Given the description of an element on the screen output the (x, y) to click on. 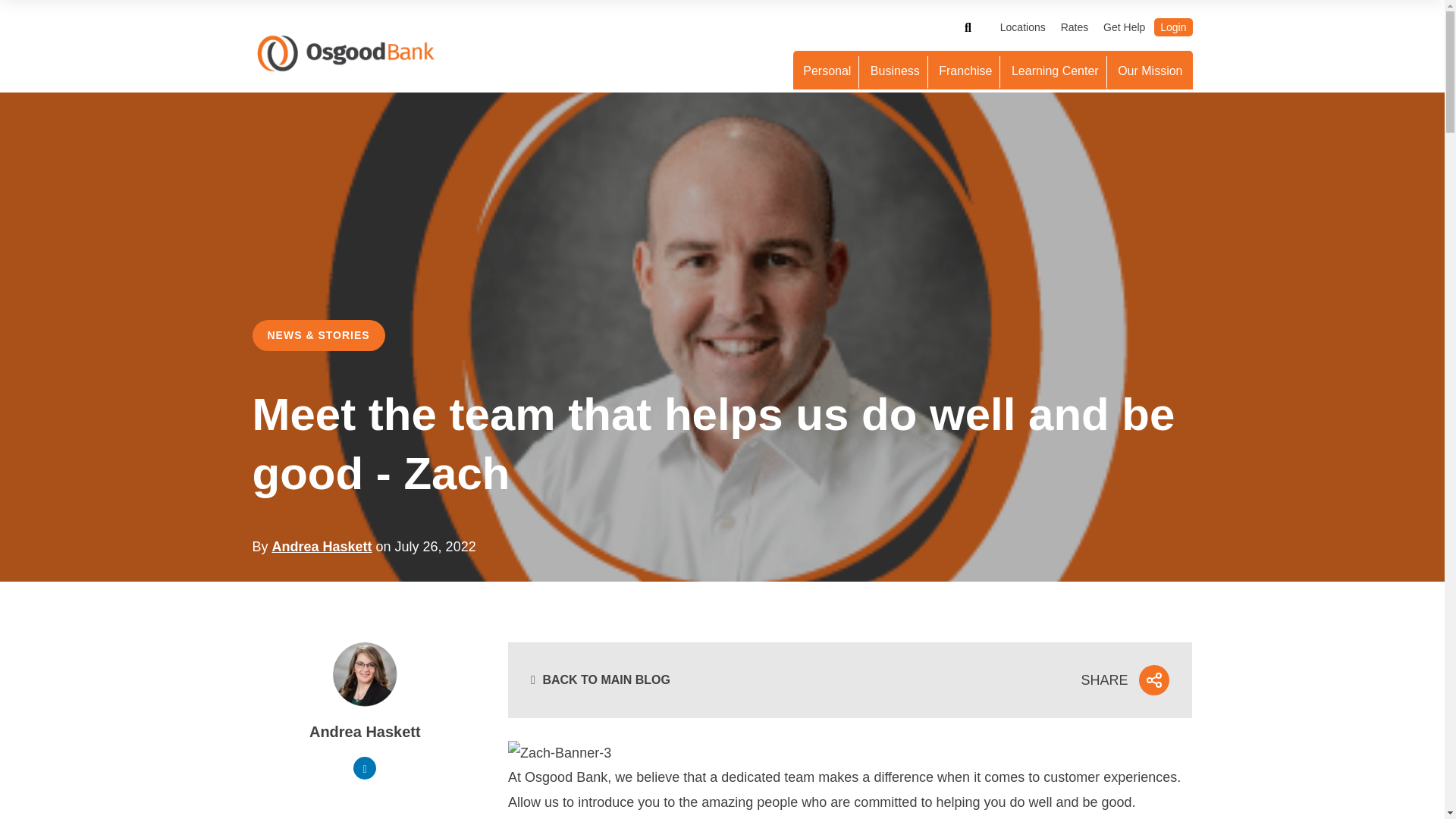
Our Mission (1149, 72)
Personal (826, 72)
Horizontal-Logo (346, 53)
Business (895, 72)
Rates (1074, 27)
Get Help (1124, 27)
Locations (1022, 27)
Linkedin (364, 767)
Login (1173, 27)
Franchise (965, 72)
